Given the description of an element on the screen output the (x, y) to click on. 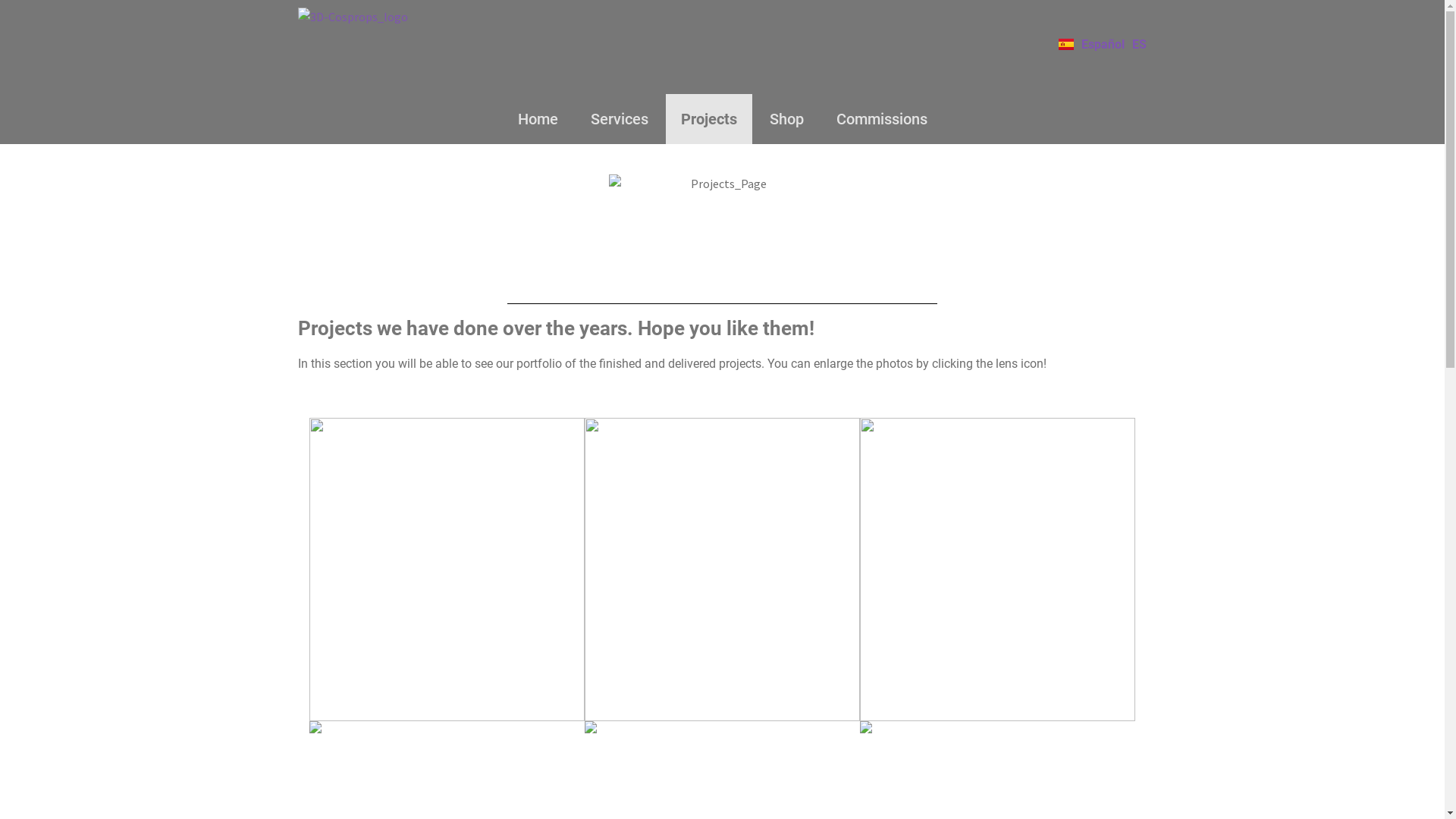
Services Element type: text (618, 119)
Home Element type: text (537, 119)
Projects Element type: text (708, 119)
Shop Element type: text (785, 119)
Commissions Element type: text (880, 119)
